Given the description of an element on the screen output the (x, y) to click on. 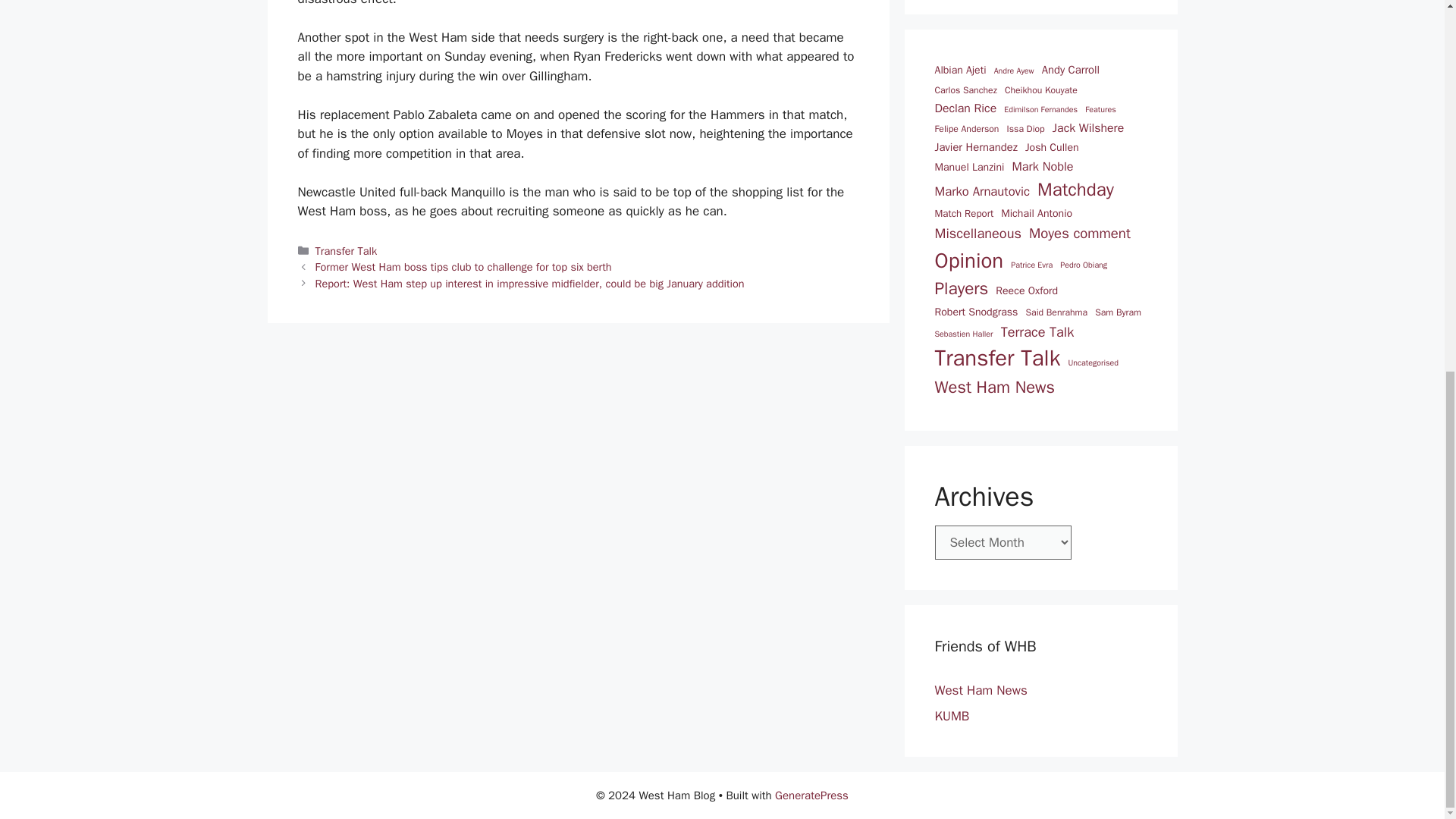
Mark Noble (1042, 167)
Edimilson Fernandes (1040, 110)
Andre Ayew (1013, 70)
Andy Carroll (1070, 69)
Carlos Sanchez (964, 90)
Felipe Anderson (966, 128)
Javier Hernandez (975, 146)
Albian Ajeti (959, 69)
Matchday (1074, 189)
